Given the description of an element on the screen output the (x, y) to click on. 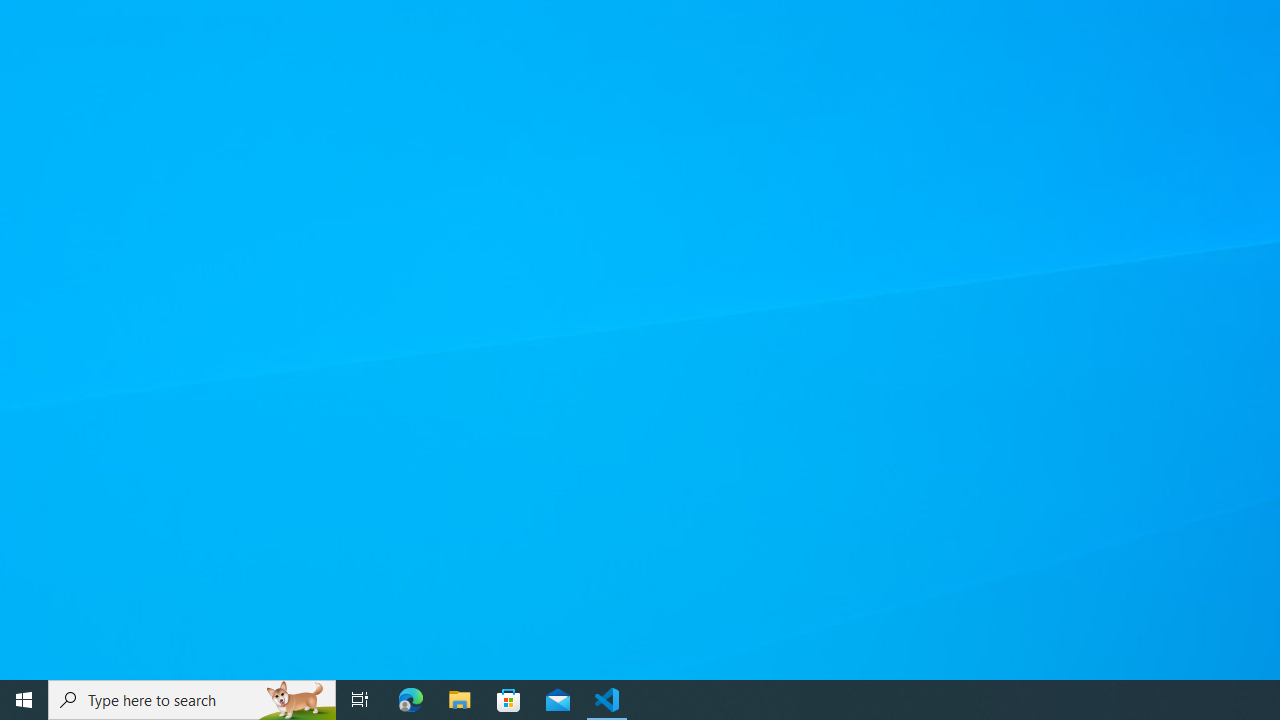
Type here to search (191, 699)
Search highlights icon opens search home window (295, 699)
Microsoft Store (509, 699)
Task View (359, 699)
Start (24, 699)
File Explorer (460, 699)
Visual Studio Code - 1 running window (607, 699)
Microsoft Edge (411, 699)
